Given the description of an element on the screen output the (x, y) to click on. 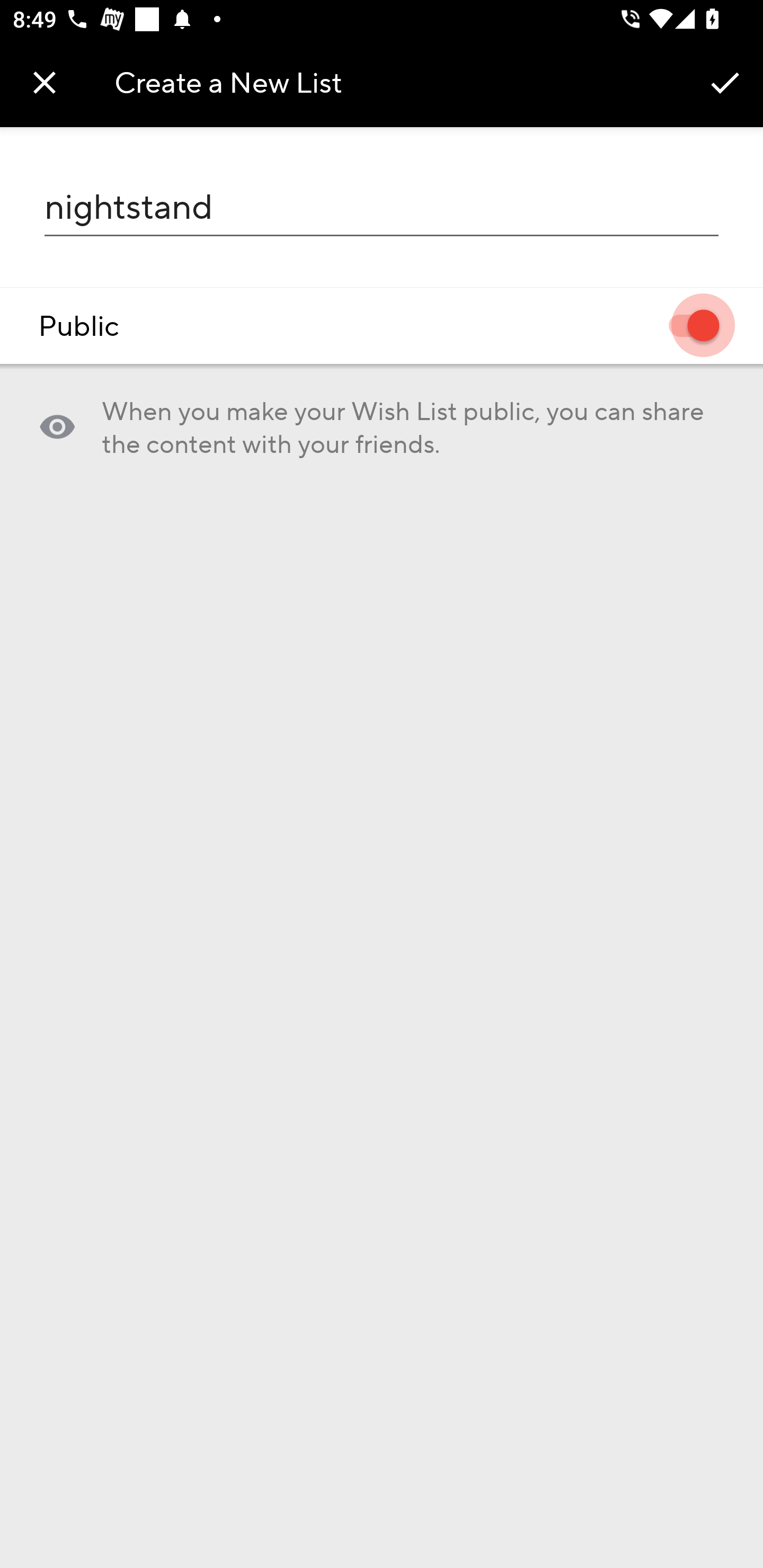
Navigate up (44, 82)
Done (724, 81)
nightstand (381, 206)
